Given the description of an element on the screen output the (x, y) to click on. 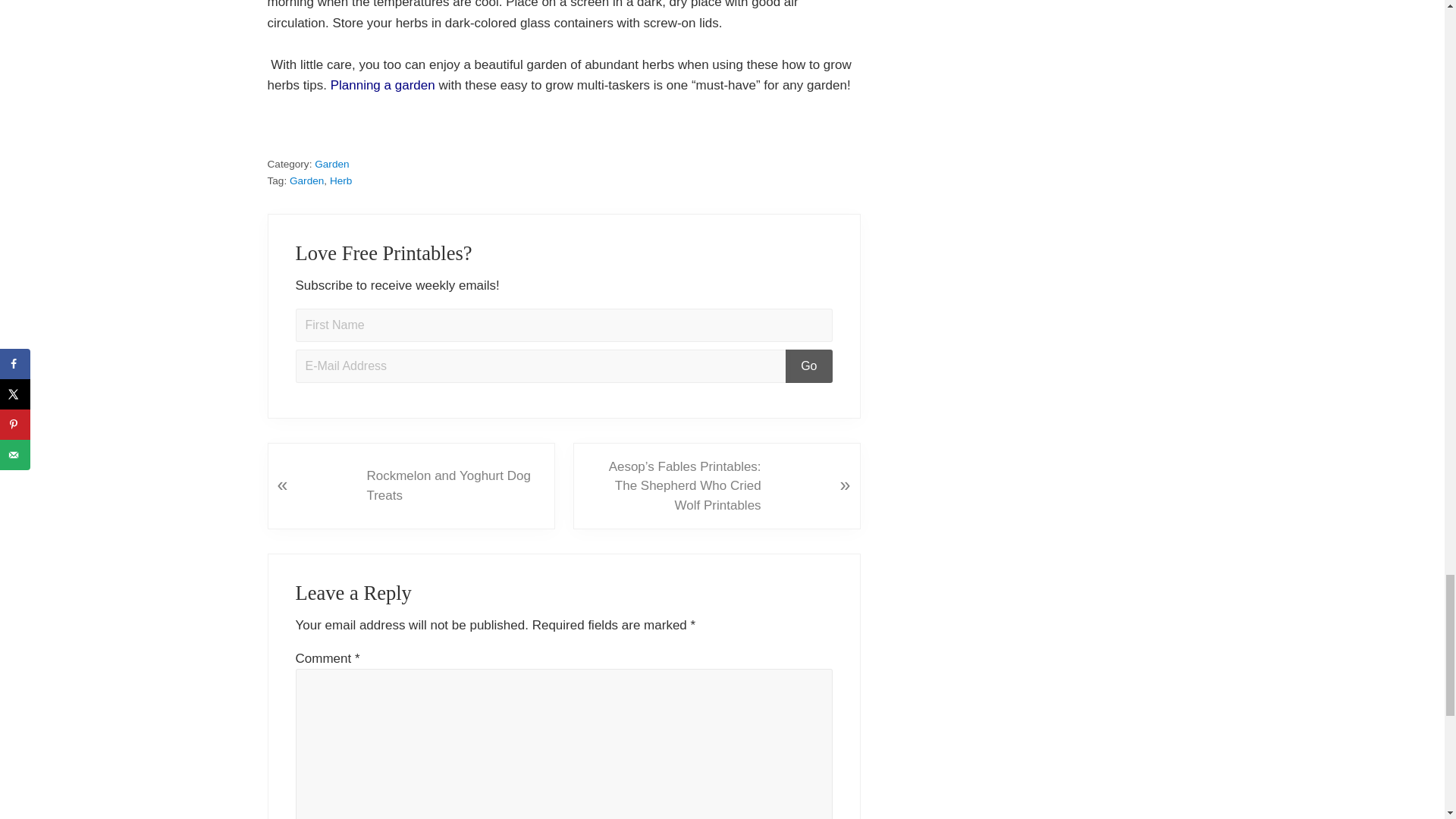
Go (808, 366)
